Given the description of an element on the screen output the (x, y) to click on. 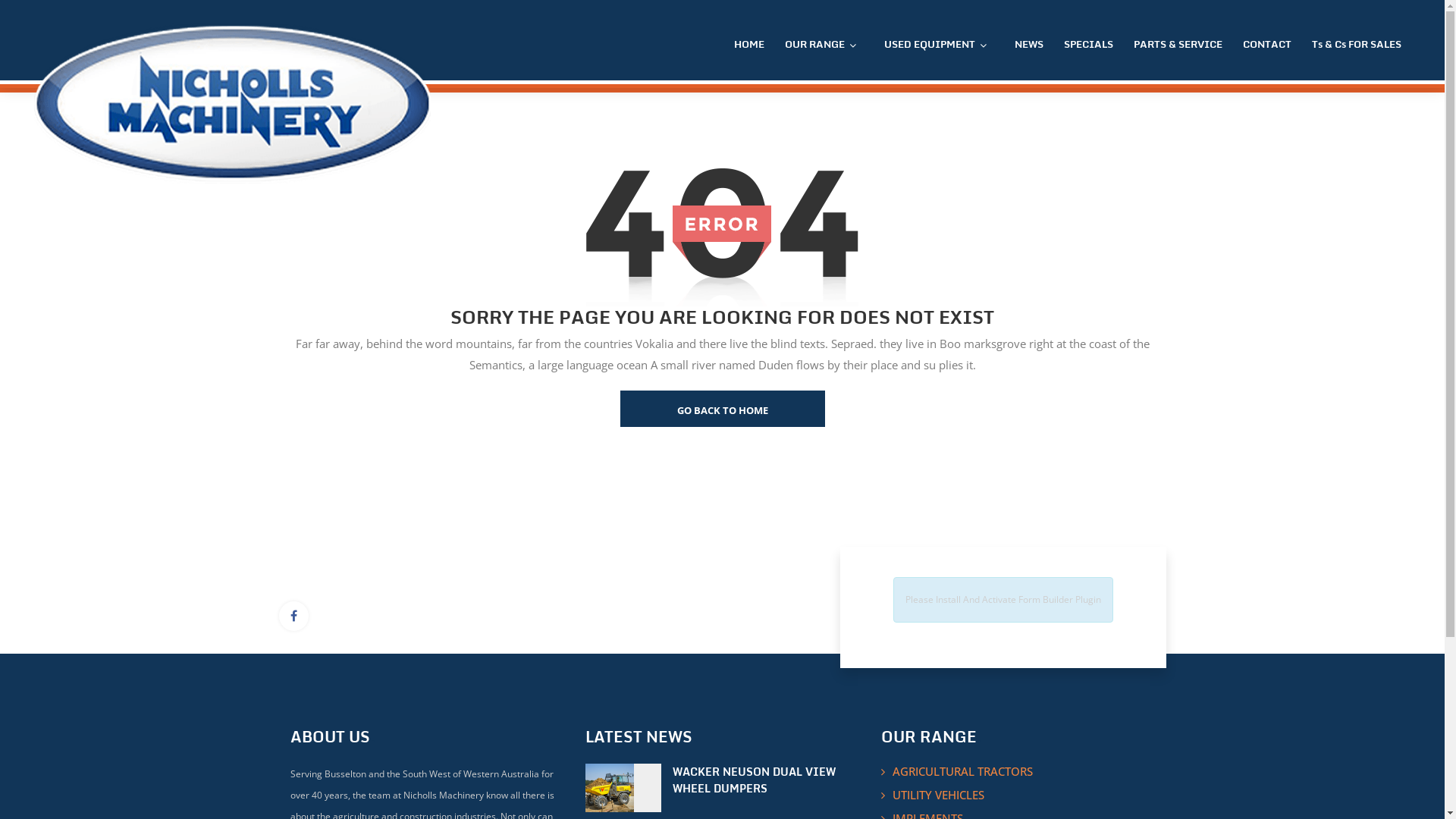
GO BACK TO HOME Element type: text (722, 408)
AGRICULTURAL TRACTORS Element type: text (960, 770)
WACKER NEUSON DUAL VIEW WHEEL DUMPERS Element type: text (765, 780)
UTILITY VEHICLES Element type: text (936, 794)
Wacker Neuson Dual View Wheel Dumpers Element type: hover (623, 787)
